Given the description of an element on the screen output the (x, y) to click on. 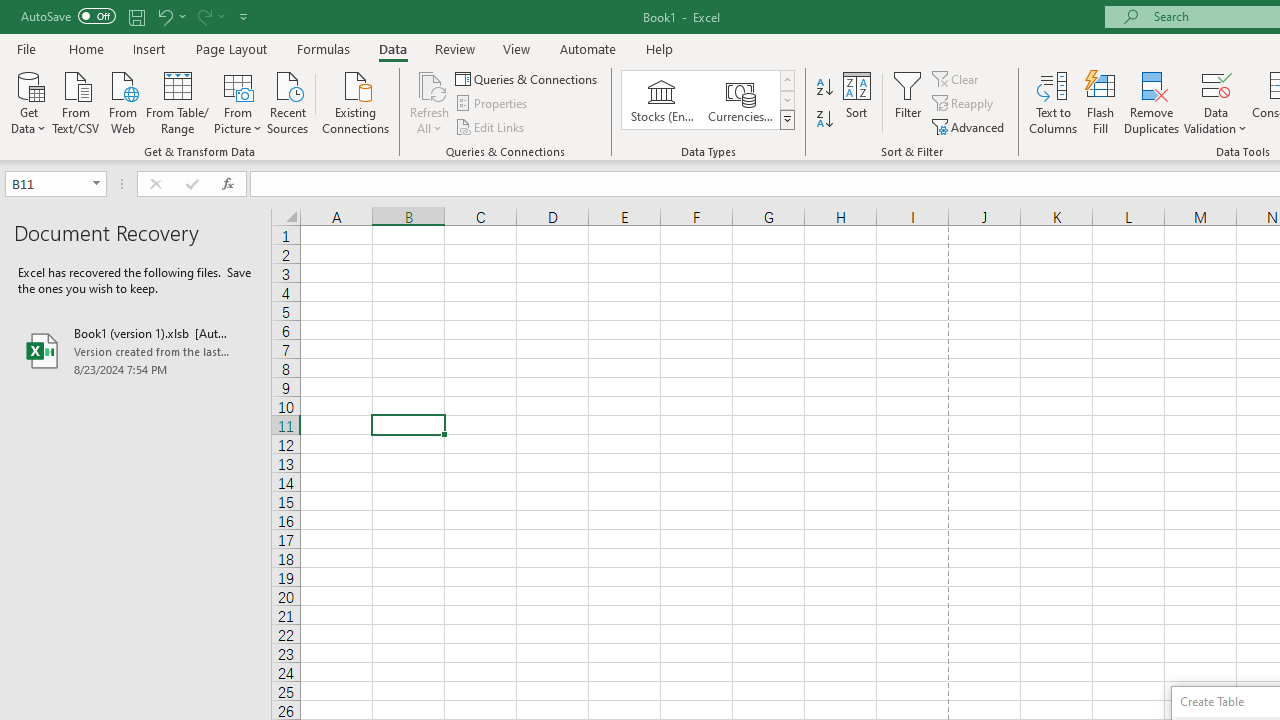
Get Data (28, 101)
Sort Z to A (824, 119)
Text to Columns... (1053, 102)
AutomationID: ConvertToLinkedEntity (708, 99)
From Table/Range (177, 101)
Stocks (English) (662, 100)
